Given the description of an element on the screen output the (x, y) to click on. 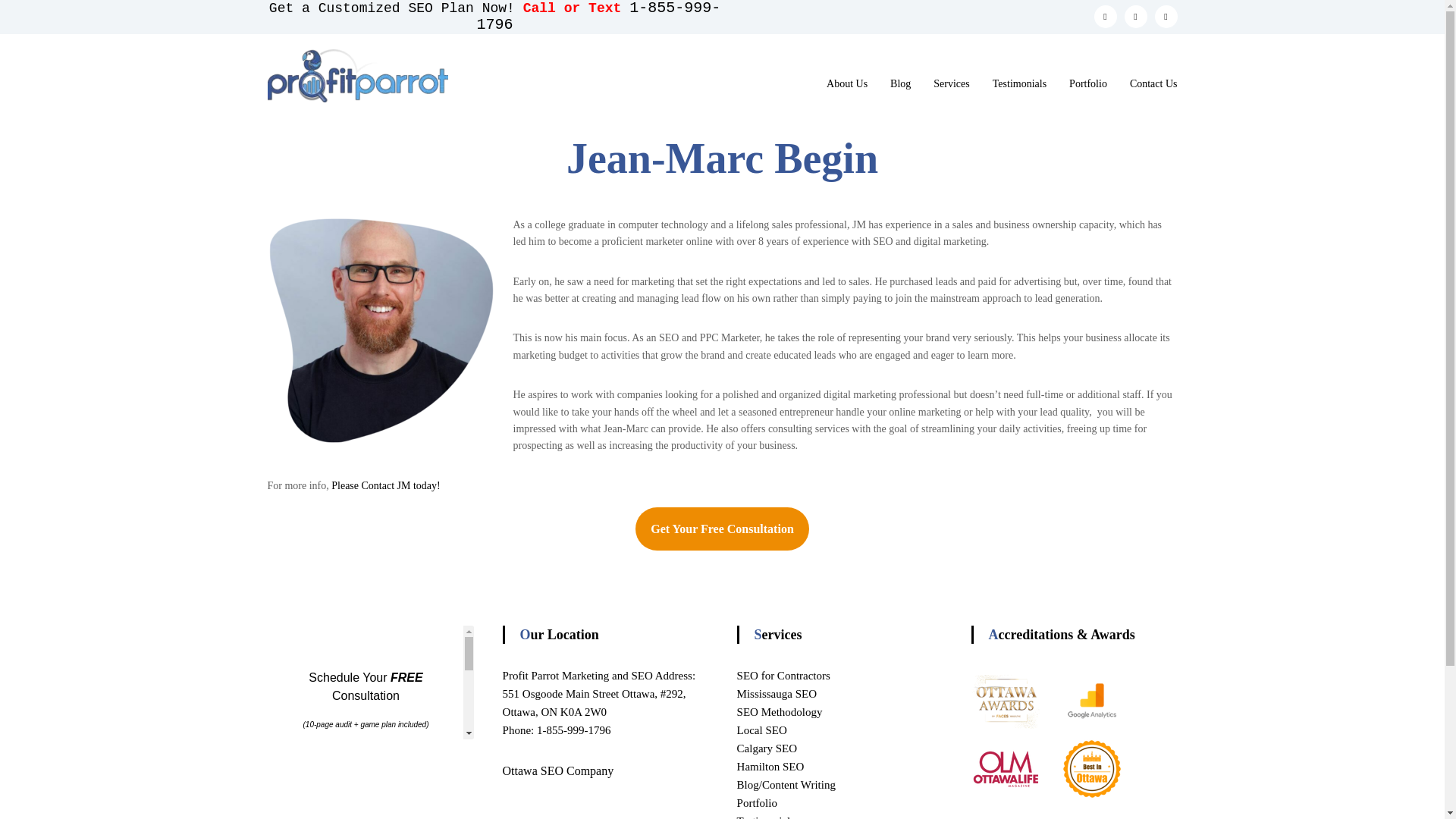
facebook (1165, 15)
Portfolio (1087, 83)
linkedin (1104, 15)
local seo ottawa surly (1091, 811)
Get a Customized SEO Plan Now! Call or Text (448, 7)
Instagram (1135, 15)
Blog (900, 83)
1-855-999-1796 (598, 16)
Testimonials (1019, 83)
Services (951, 83)
